Given the description of an element on the screen output the (x, y) to click on. 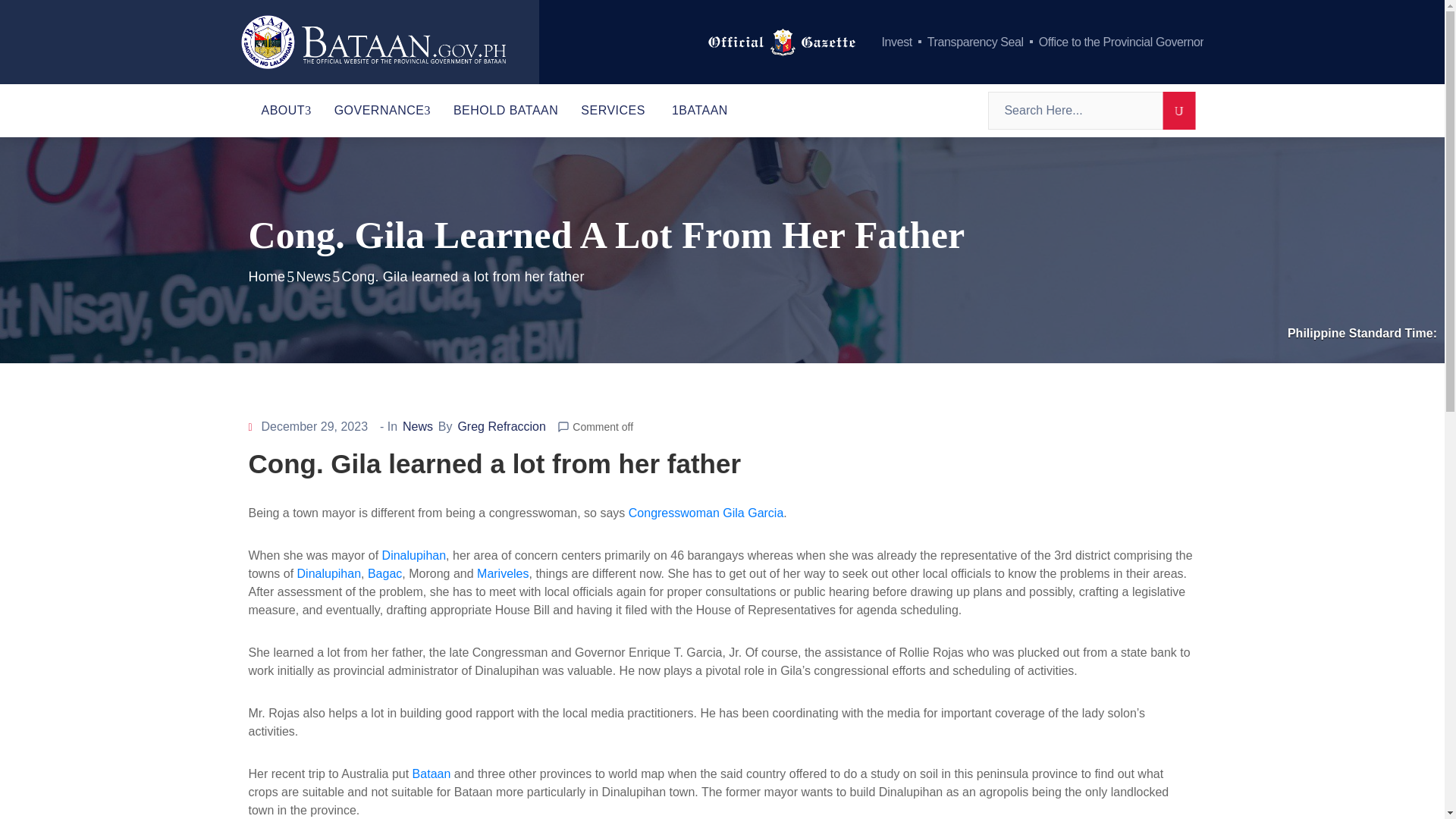
ABOUT (286, 110)
Office to the Provincial Governor (1121, 41)
GOVERNANCE (382, 110)
Transparency Seal (975, 41)
Invest (897, 41)
